Given the description of an element on the screen output the (x, y) to click on. 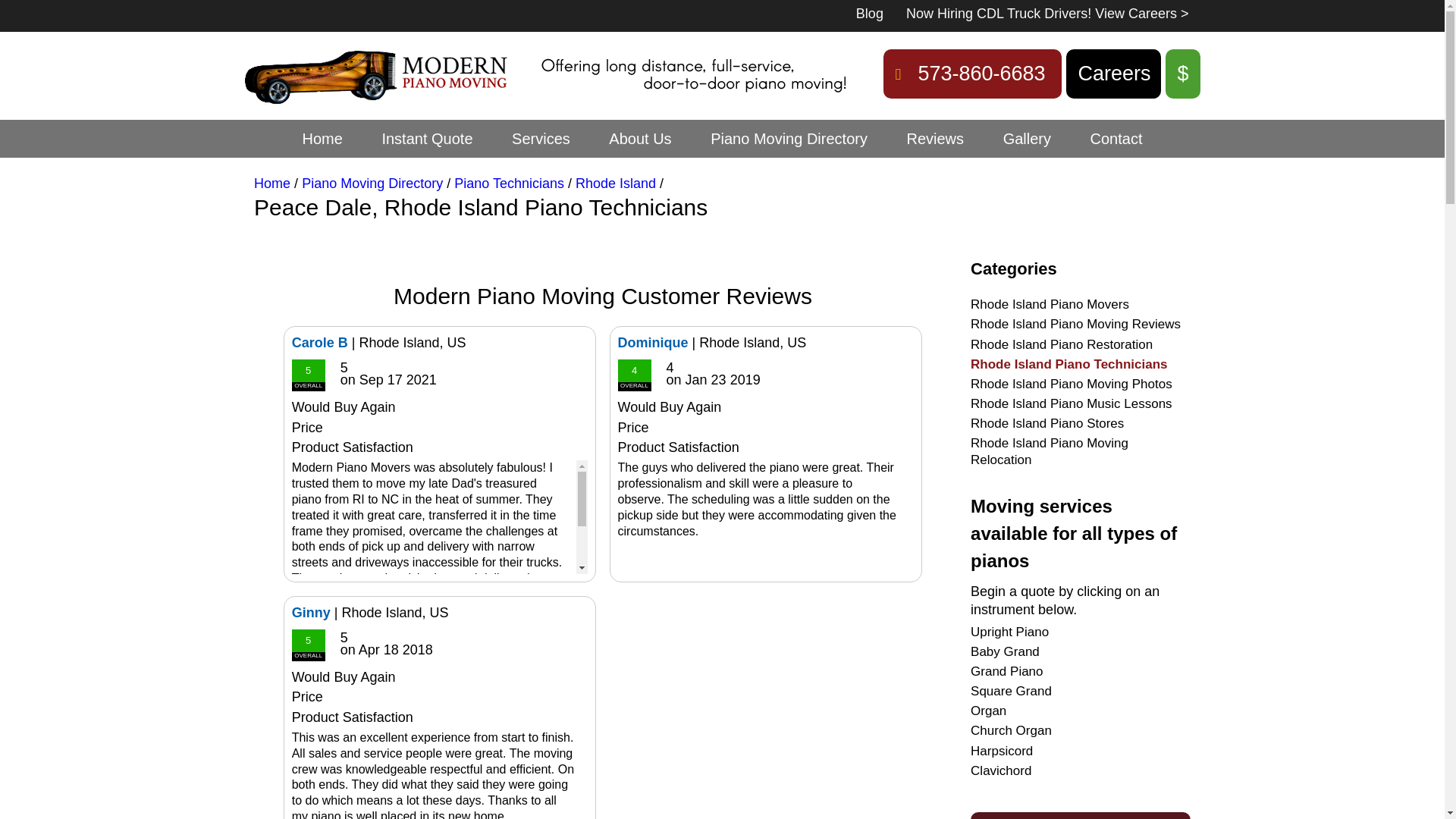
Blog (869, 13)
About Us (639, 138)
Home (322, 138)
Services (541, 138)
Instant Quote (426, 138)
573-860-6683 (972, 73)
Careers (1112, 73)
